Given the description of an element on the screen output the (x, y) to click on. 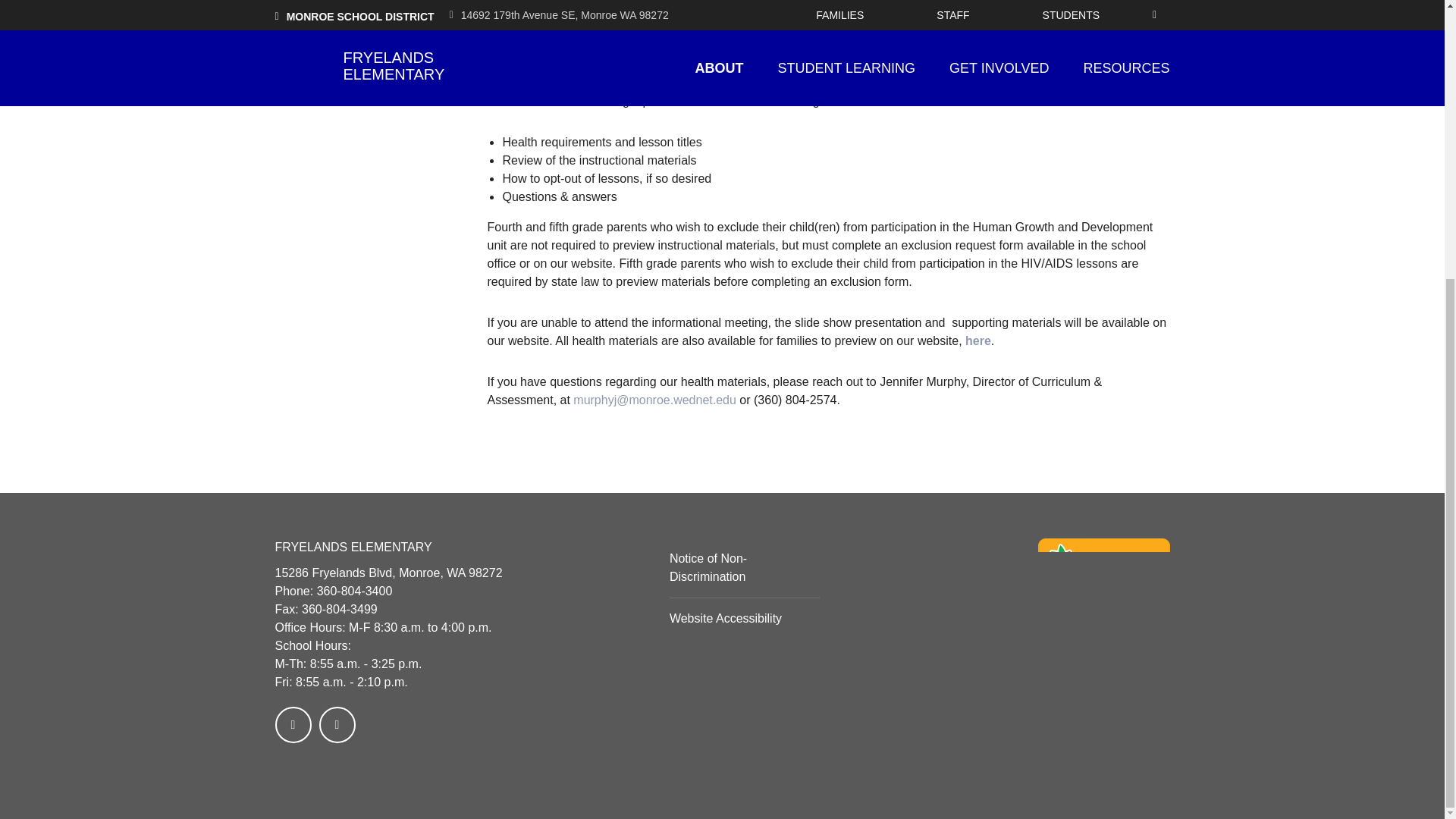
Embedded Form - Form (994, 605)
Notice of Non-Discrimination (707, 567)
Website Accessibility (725, 617)
Peachjar - Chain Lake Elementary (1102, 581)
Powered by Finalsite opens in a new window (1118, 762)
